Given the description of an element on the screen output the (x, y) to click on. 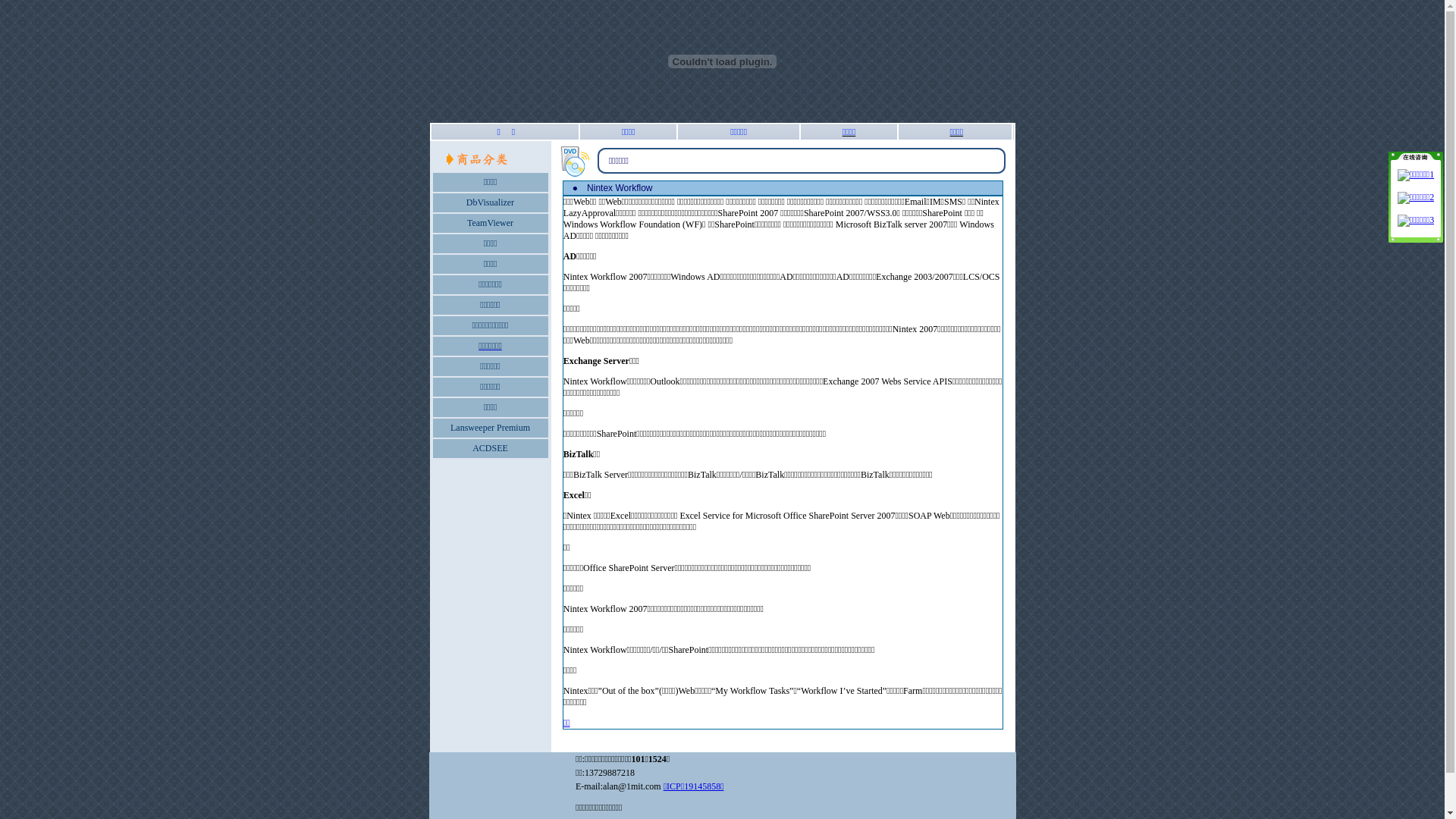
ACDSEE Element type: text (490, 447)
DbVisualizer Element type: text (490, 202)
Lansweeper Premium Element type: text (490, 427)
TeamViewer Element type: text (490, 222)
